Given the description of an element on the screen output the (x, y) to click on. 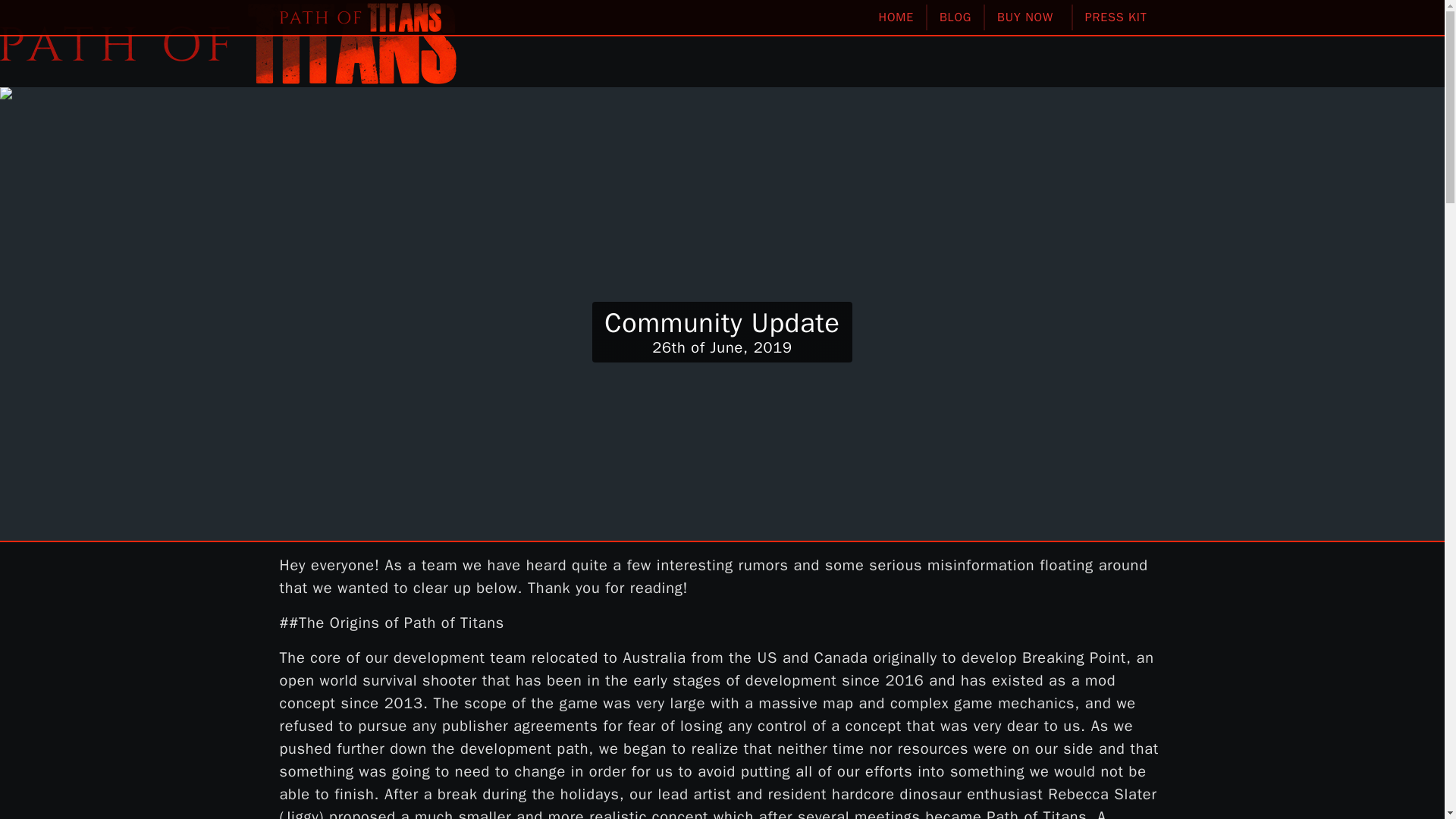
HOME (896, 17)
BLOG (956, 17)
BUY NOW (1029, 17)
PRESS KIT (1119, 17)
